Given the description of an element on the screen output the (x, y) to click on. 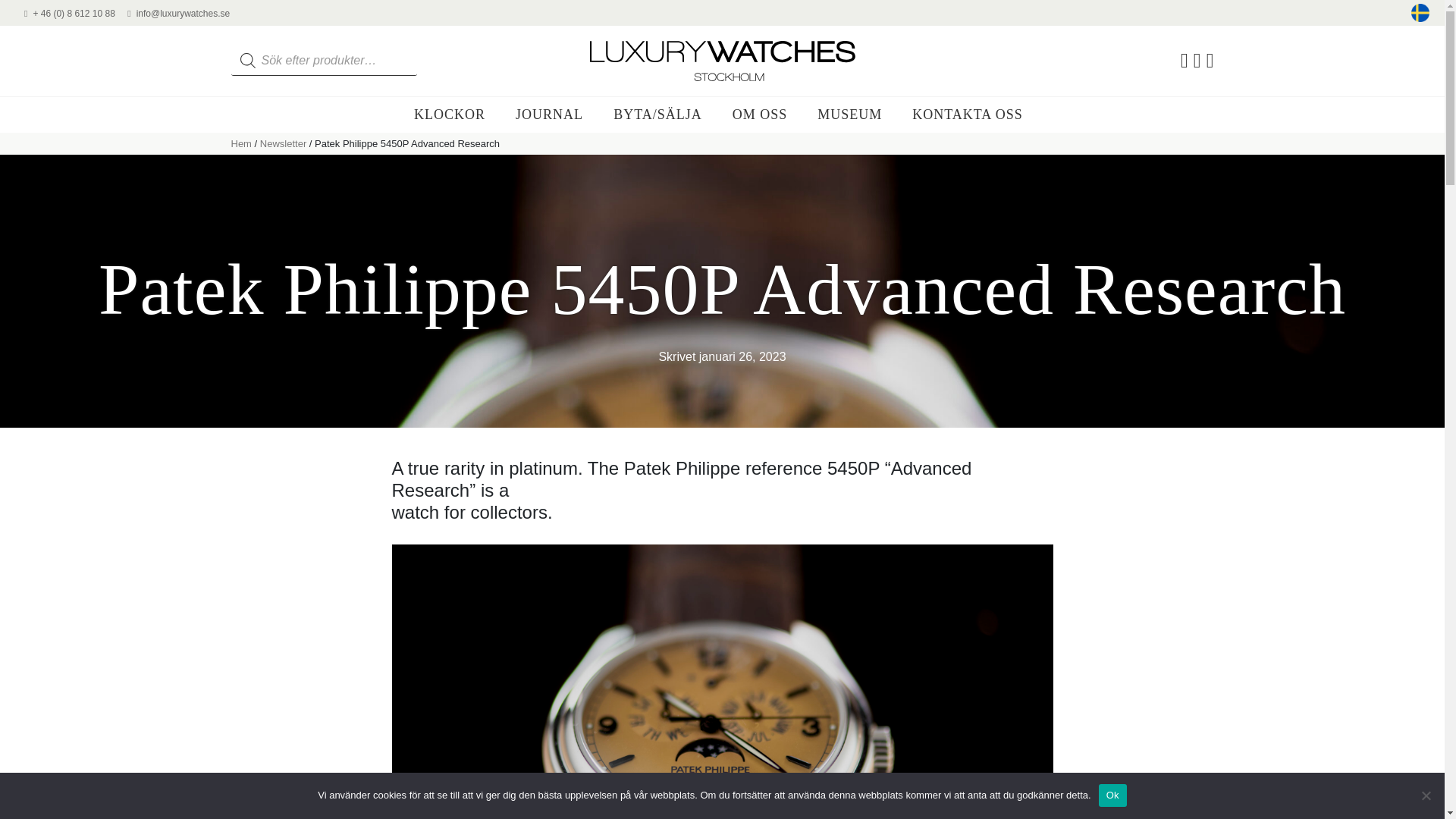
JOURNAL (549, 114)
Nej (1425, 795)
OM OSS (759, 114)
MUSEUM (849, 114)
Newsletter (282, 143)
Hem (240, 143)
KLOCKOR (448, 114)
KONTAKTA OSS (967, 114)
